Given the description of an element on the screen output the (x, y) to click on. 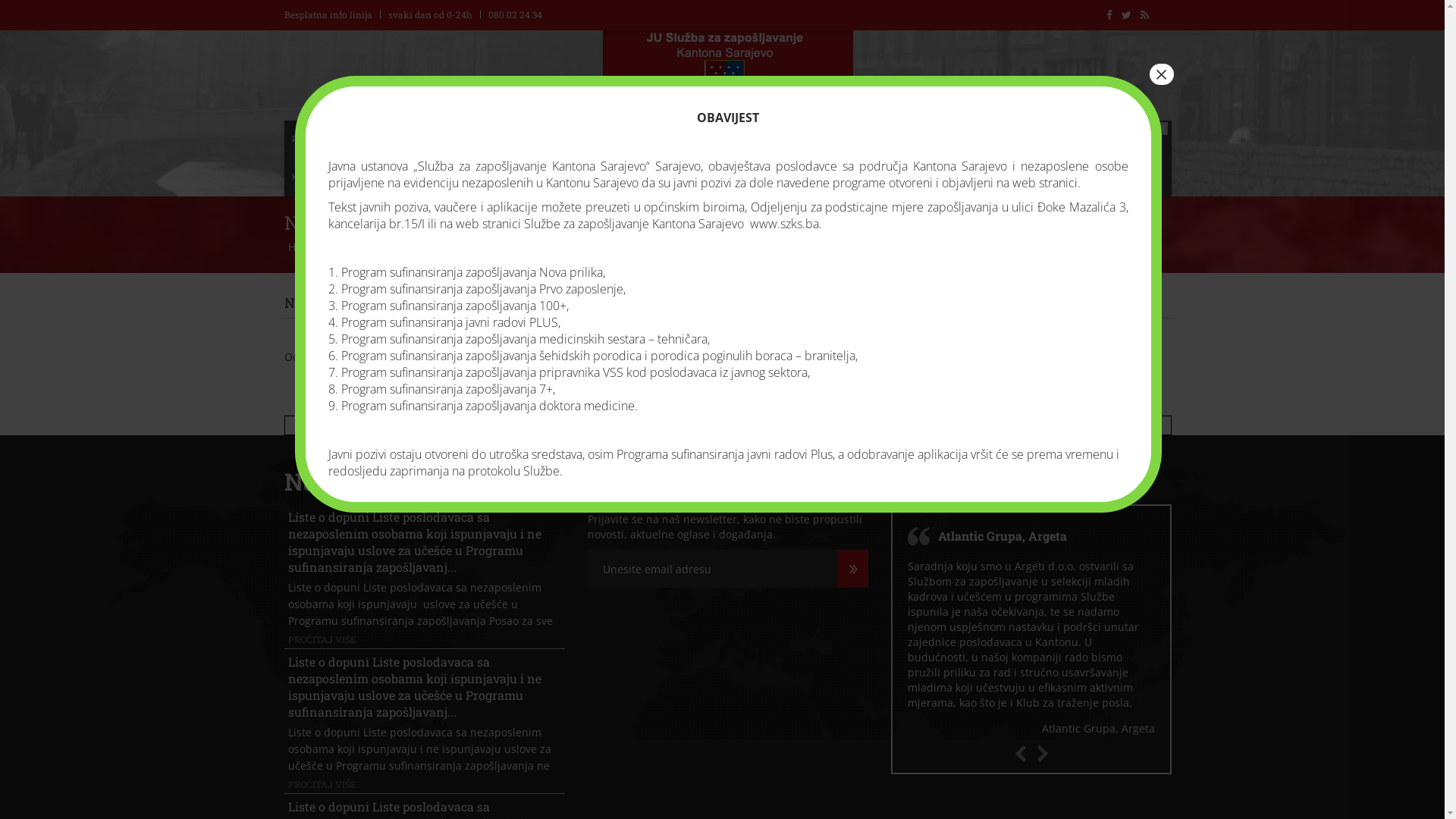
POSLODAVCI Element type: text (636, 139)
svaki dan od 0-24h Element type: text (430, 14)
PROPISI I AKTI Element type: text (986, 139)
OVDJE! Element type: text (907, 356)
PROGRAMI Element type: text (719, 139)
STATISTIKA Element type: text (797, 139)
NEZAPOSLENI Element type: text (546, 139)
PREUZIMANJA Element type: text (1079, 139)
080 02 24 34 Element type: text (515, 14)
Besplatna info linija Element type: text (328, 14)
O NAMA Element type: text (375, 139)
JAVNE NABAVKE Element type: text (888, 139)
KONTAKT Element type: text (313, 177)
Home Element type: text (304, 246)
Odluke Element type: text (357, 246)
AKTUELNOSTI Element type: text (453, 139)
